Given the description of an element on the screen output the (x, y) to click on. 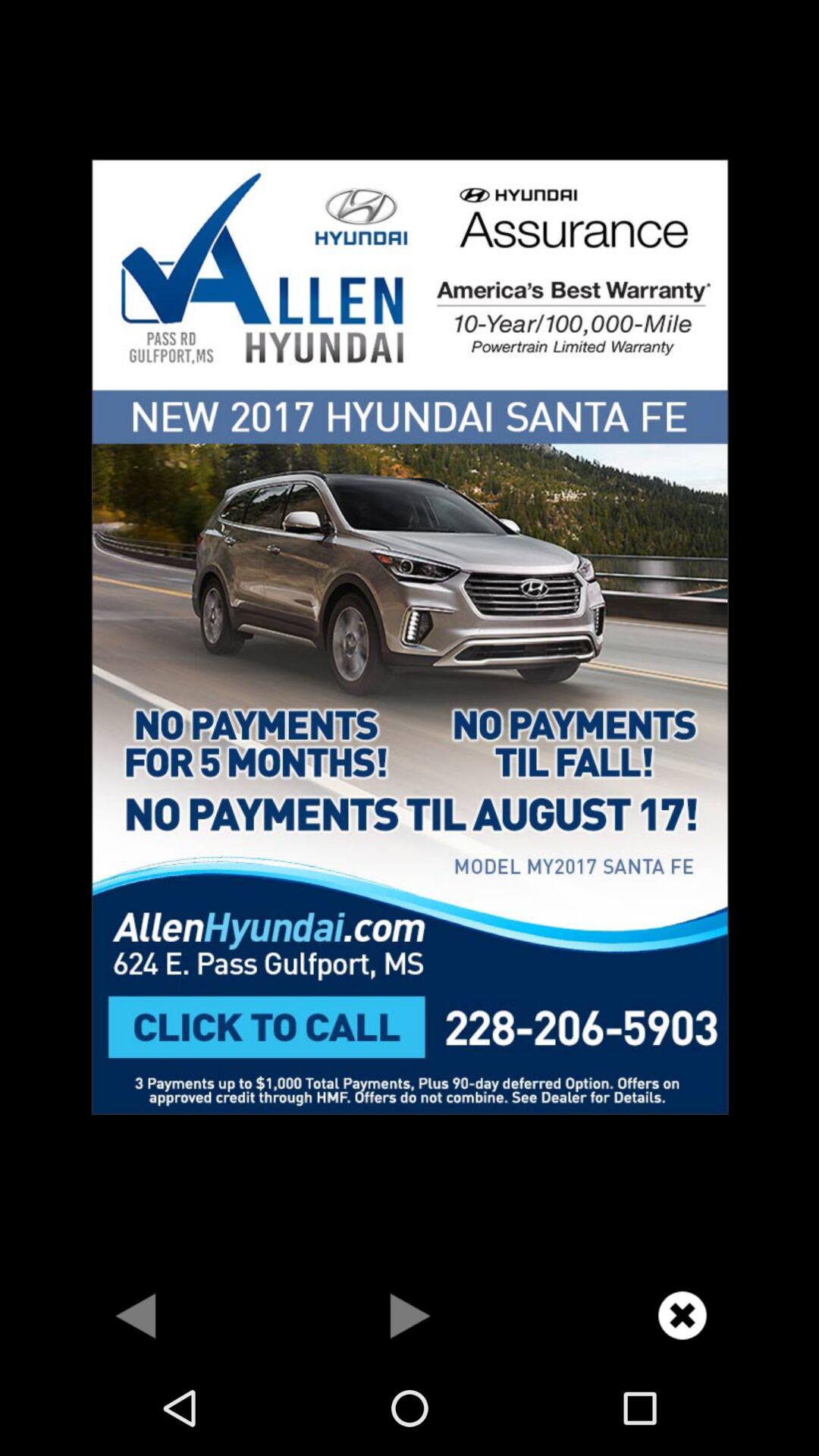
close advertisement (682, 1315)
